Given the description of an element on the screen output the (x, y) to click on. 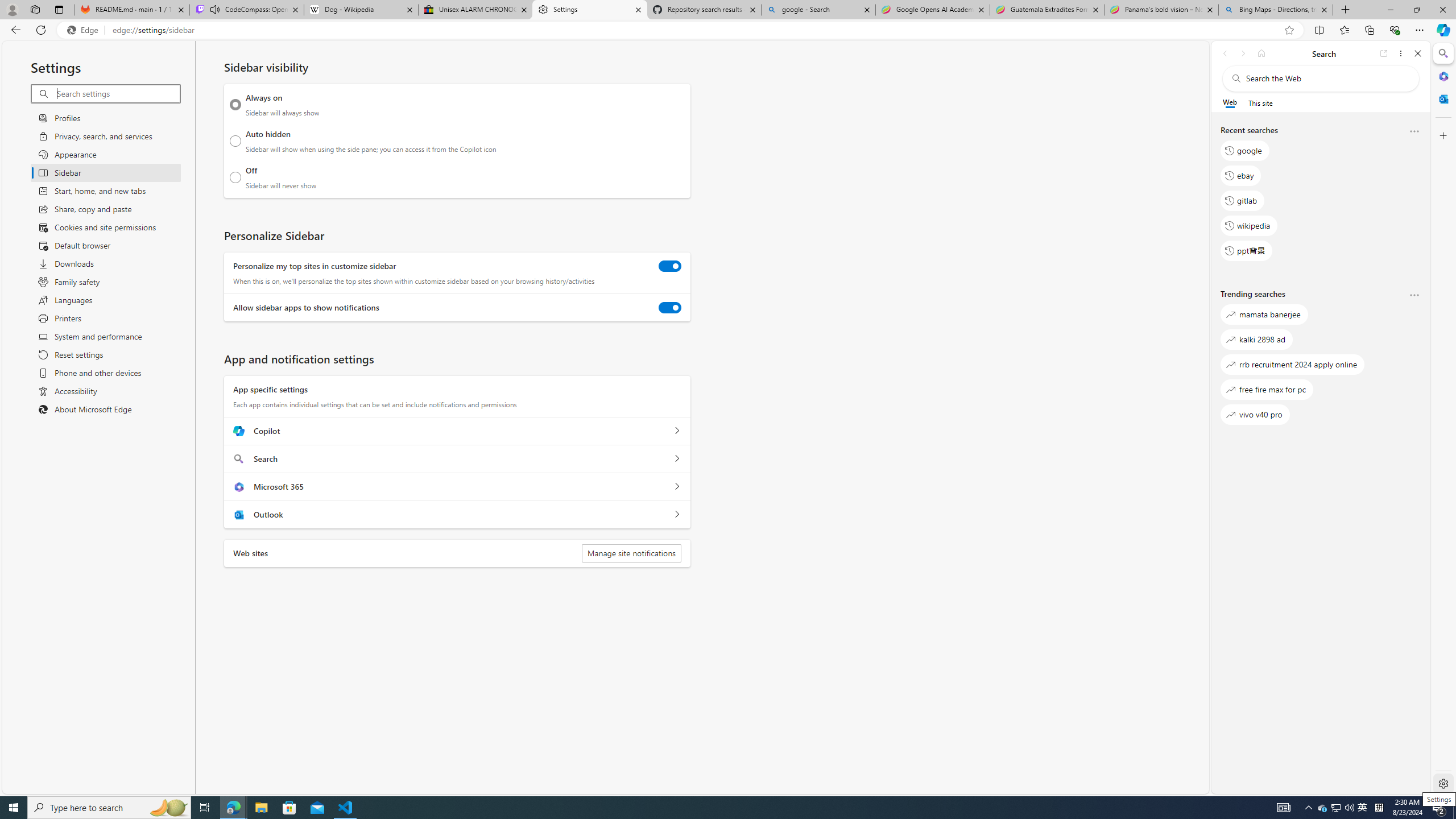
Open link in new tab (1383, 53)
Search (1442, 53)
mamata banerjee (1263, 314)
This site scope (1259, 102)
Side bar (1443, 418)
Edge (84, 29)
App bar (728, 29)
vivo v40 pro (1255, 414)
